Given the description of an element on the screen output the (x, y) to click on. 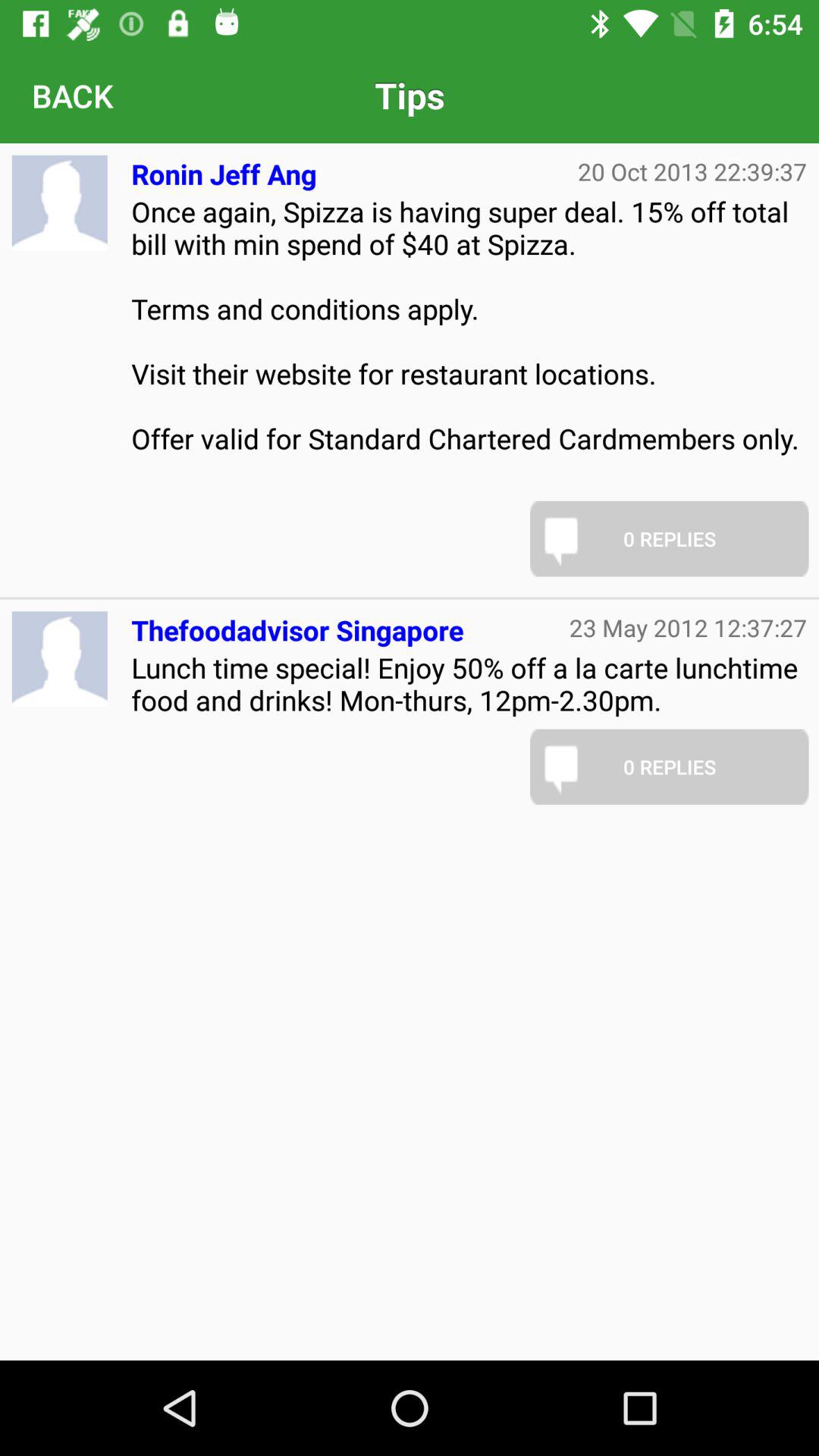
open the item below tips item (223, 167)
